Given the description of an element on the screen output the (x, y) to click on. 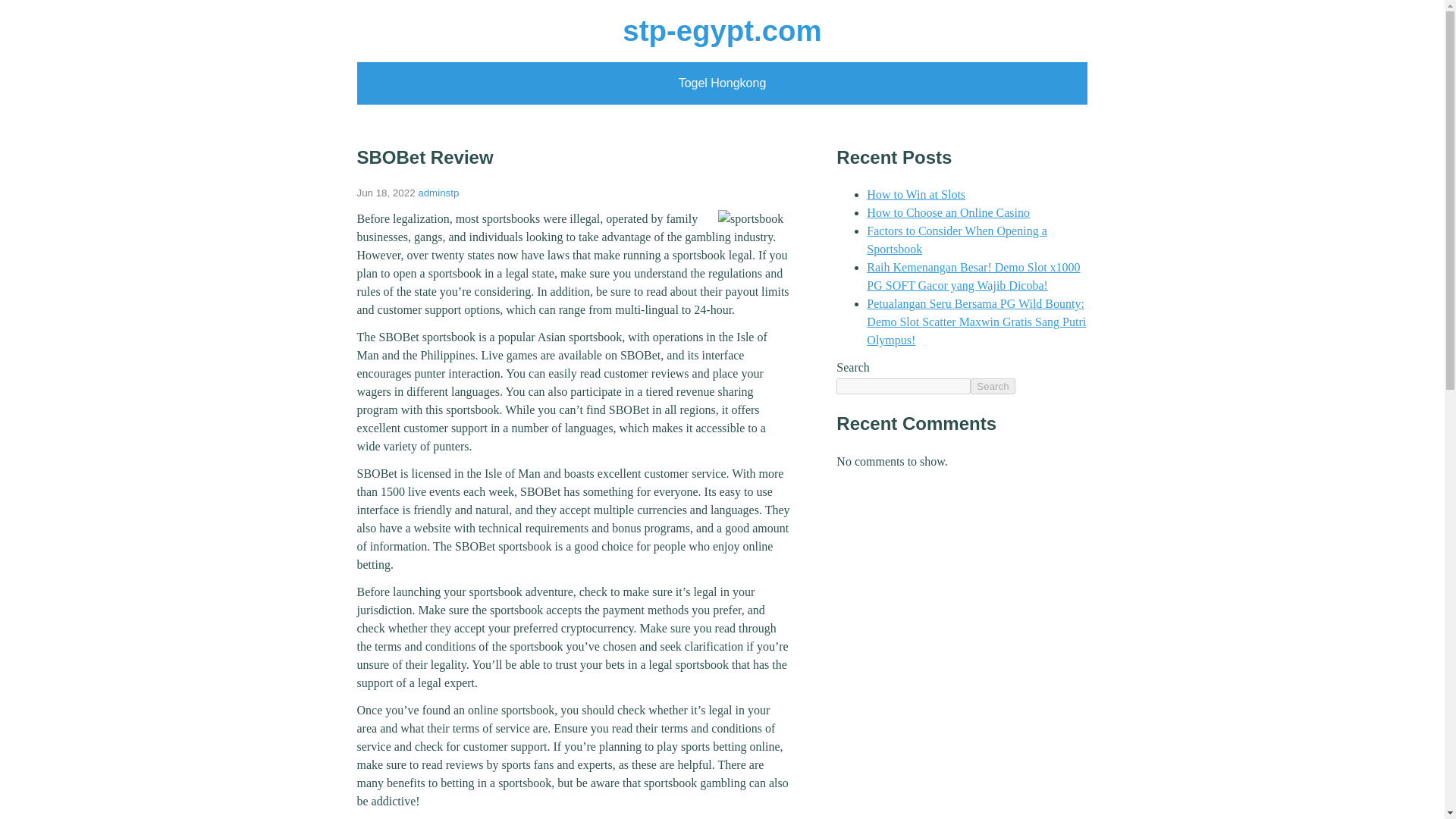
How to Choose an Online Casino (947, 212)
Factors to Consider When Opening a Sportsbook (956, 239)
How to Win at Slots (915, 194)
Togel Hongkong (722, 82)
stp-egypt.com (722, 30)
adminstp (437, 193)
Search (992, 385)
